Given the description of an element on the screen output the (x, y) to click on. 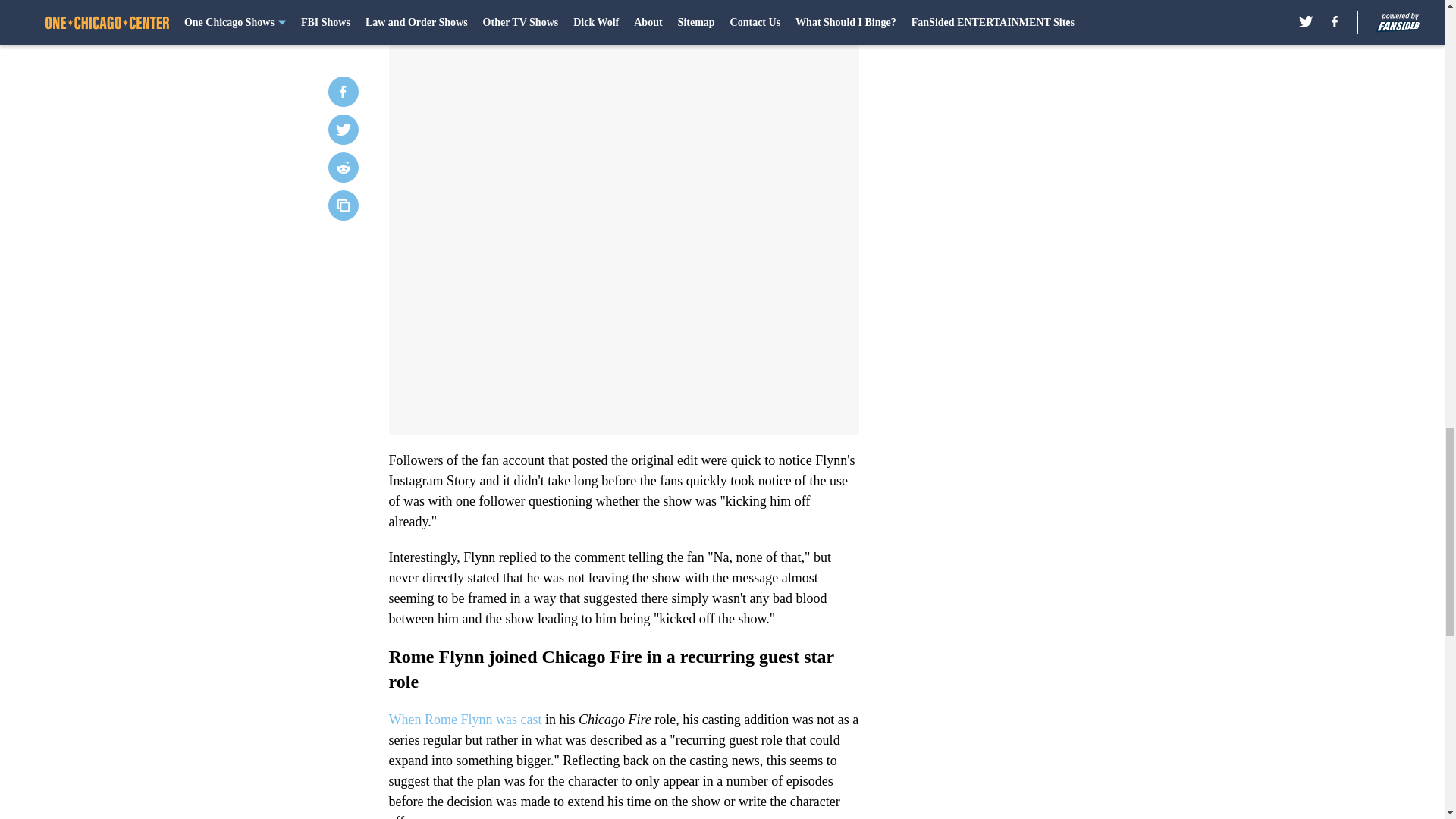
When Rome Flynn was cast (466, 719)
